Given the description of an element on the screen output the (x, y) to click on. 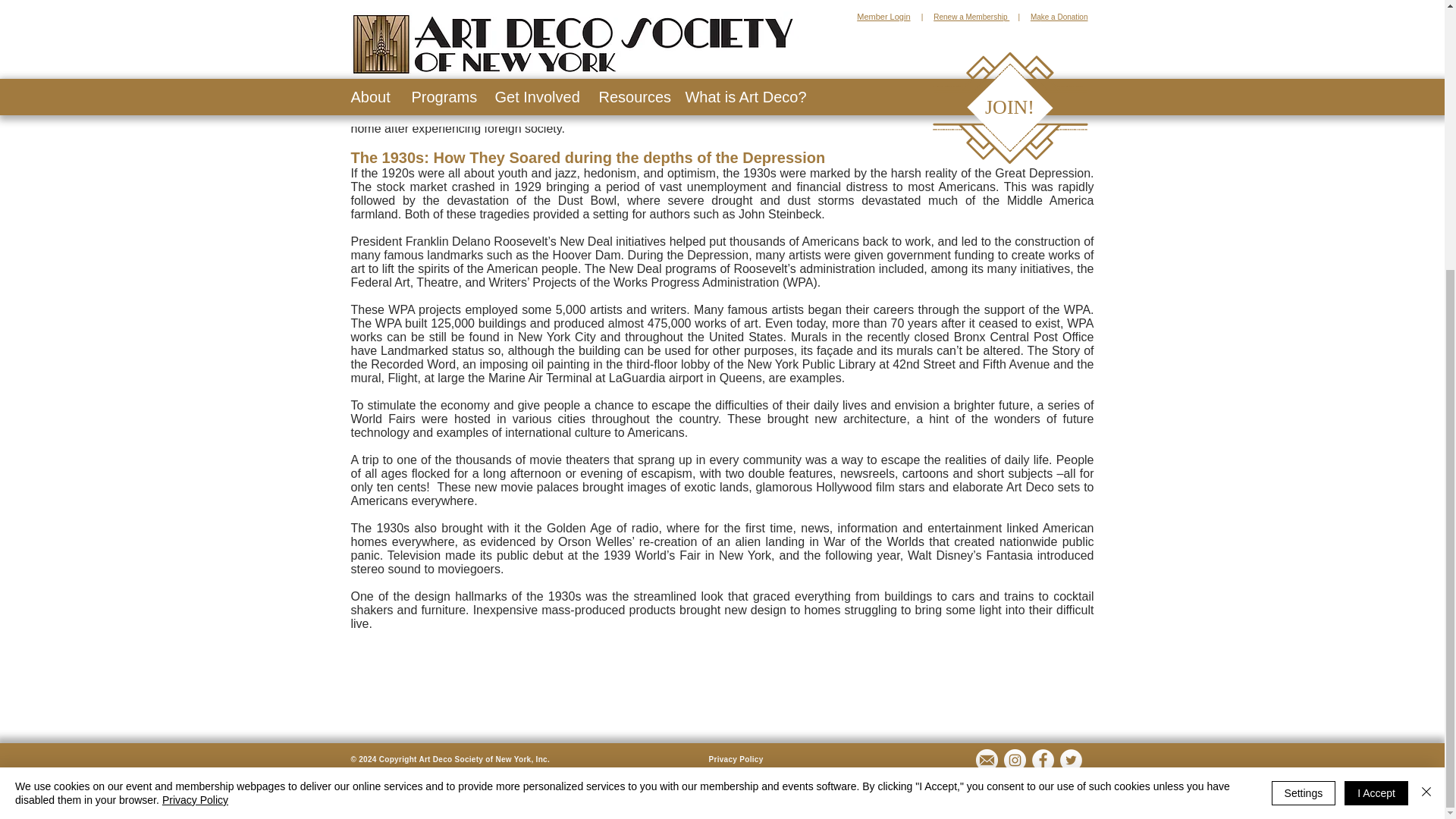
Privacy Policy (194, 405)
Privacy Policy (734, 759)
I Accept (1375, 398)
Settings (1303, 398)
